Given the description of an element on the screen output the (x, y) to click on. 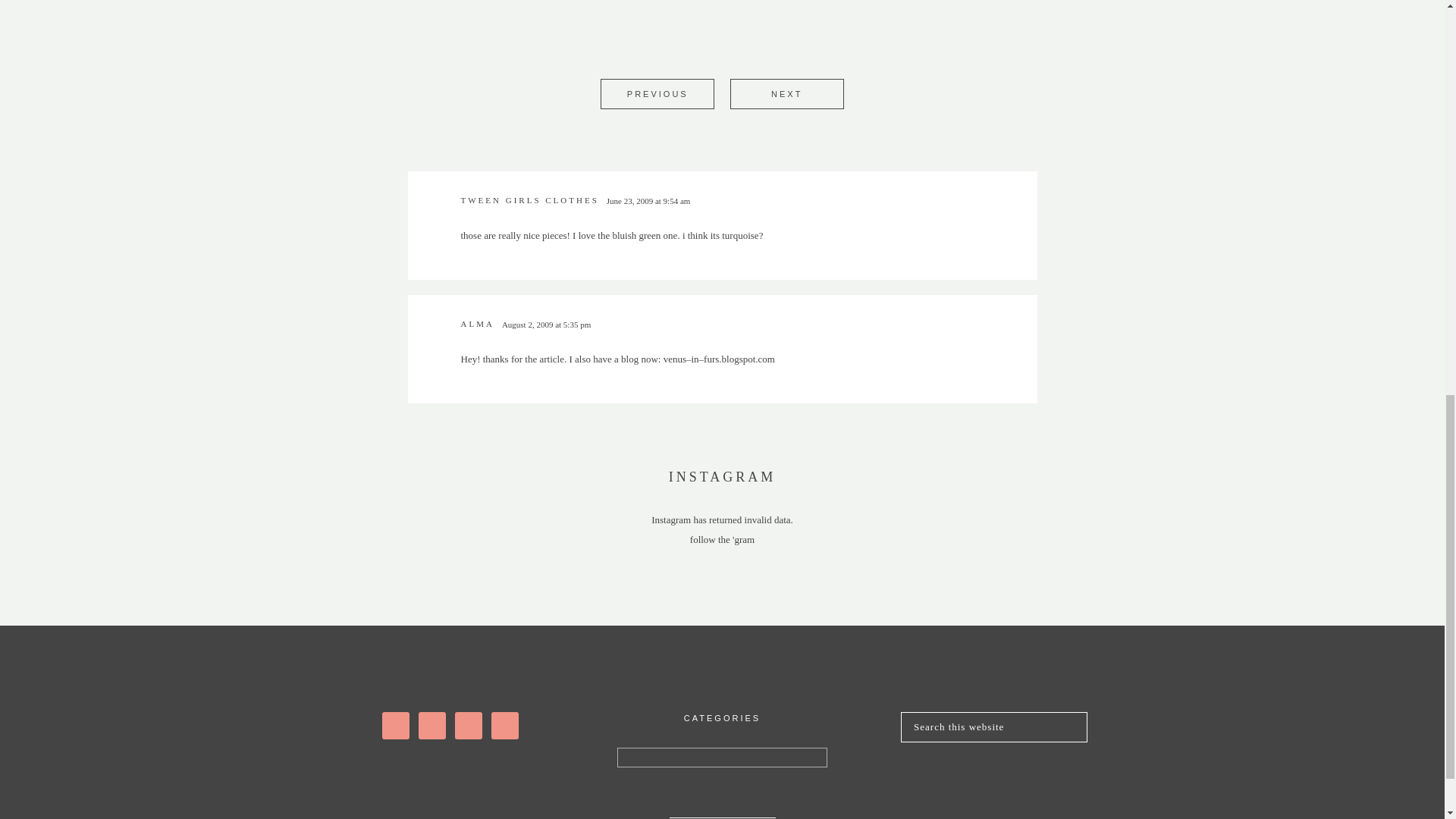
PREVIOUS (657, 93)
June 23, 2009 at 9:54 am (648, 200)
NEXT (786, 93)
August 2, 2009 at 5:35 pm (546, 324)
ALMA (478, 323)
TWEEN GIRLS CLOTHES (529, 199)
follow the 'gram (722, 539)
